Given the description of an element on the screen output the (x, y) to click on. 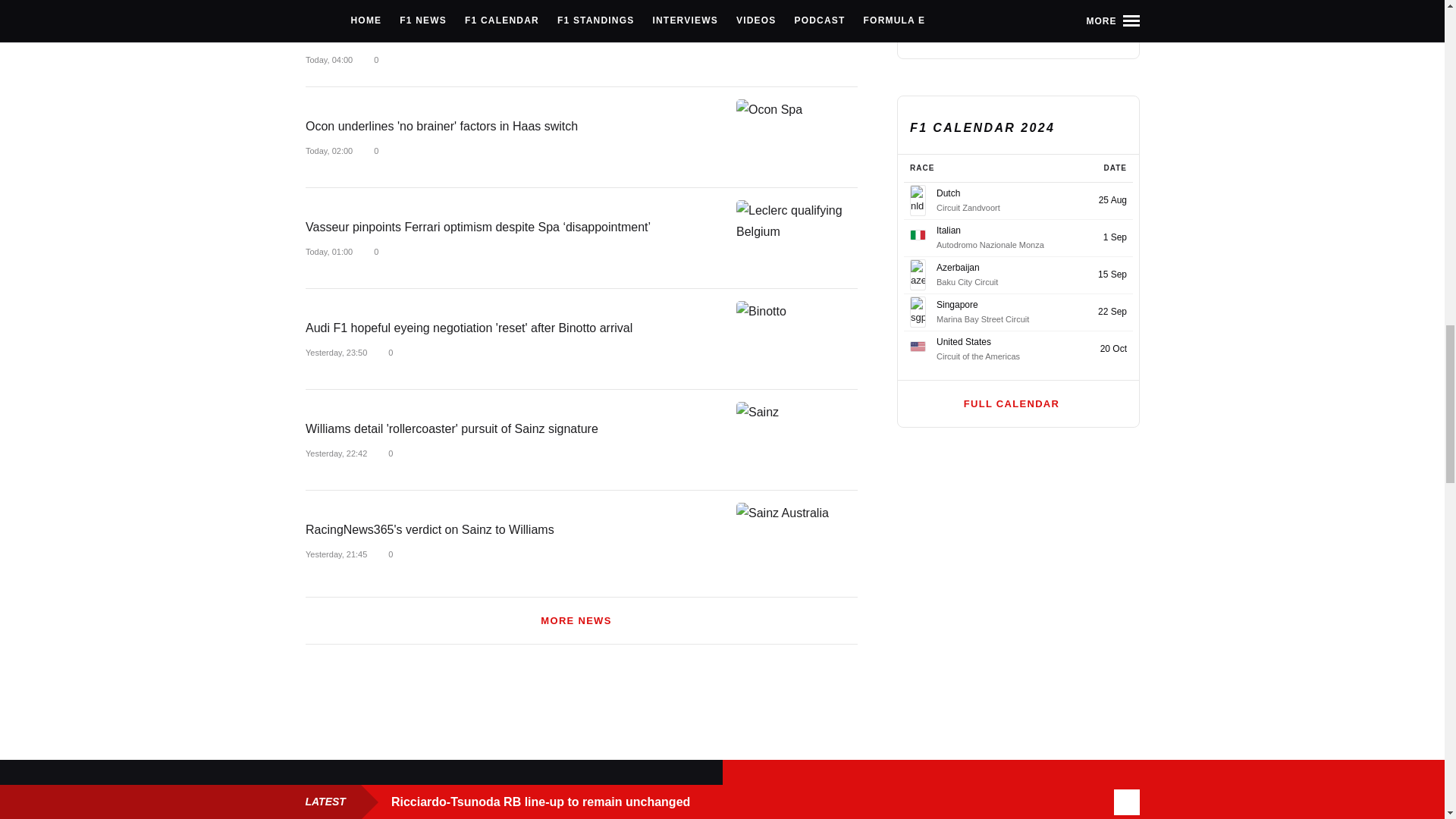
Wednesday 31 July 2024 at 04:00 (328, 59)
